Given the description of an element on the screen output the (x, y) to click on. 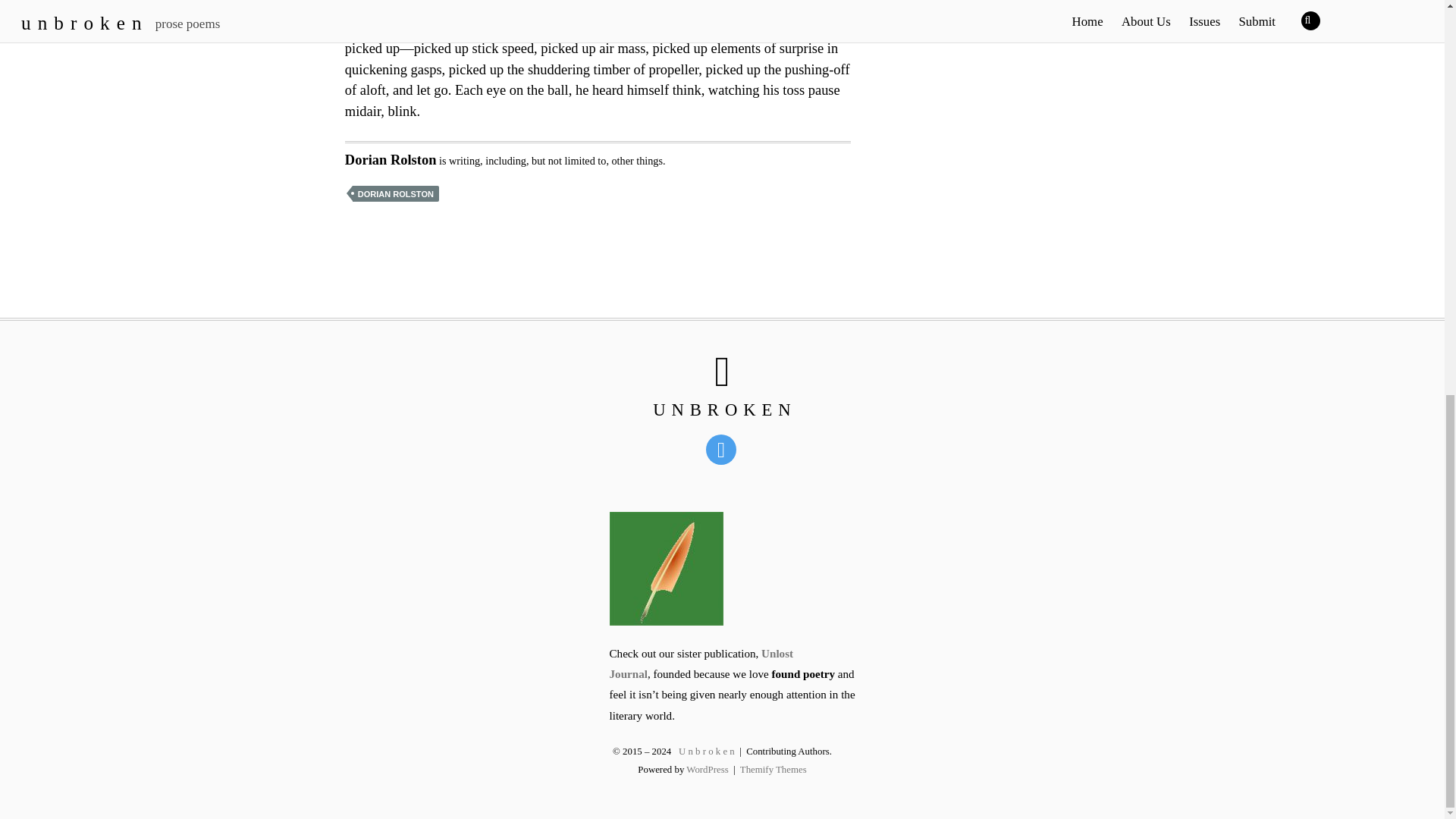
DORIAN ROLSTON (395, 193)
U n b r o k e n (722, 409)
U N B R O K E N (722, 409)
Twitter (723, 448)
